Given the description of an element on the screen output the (x, y) to click on. 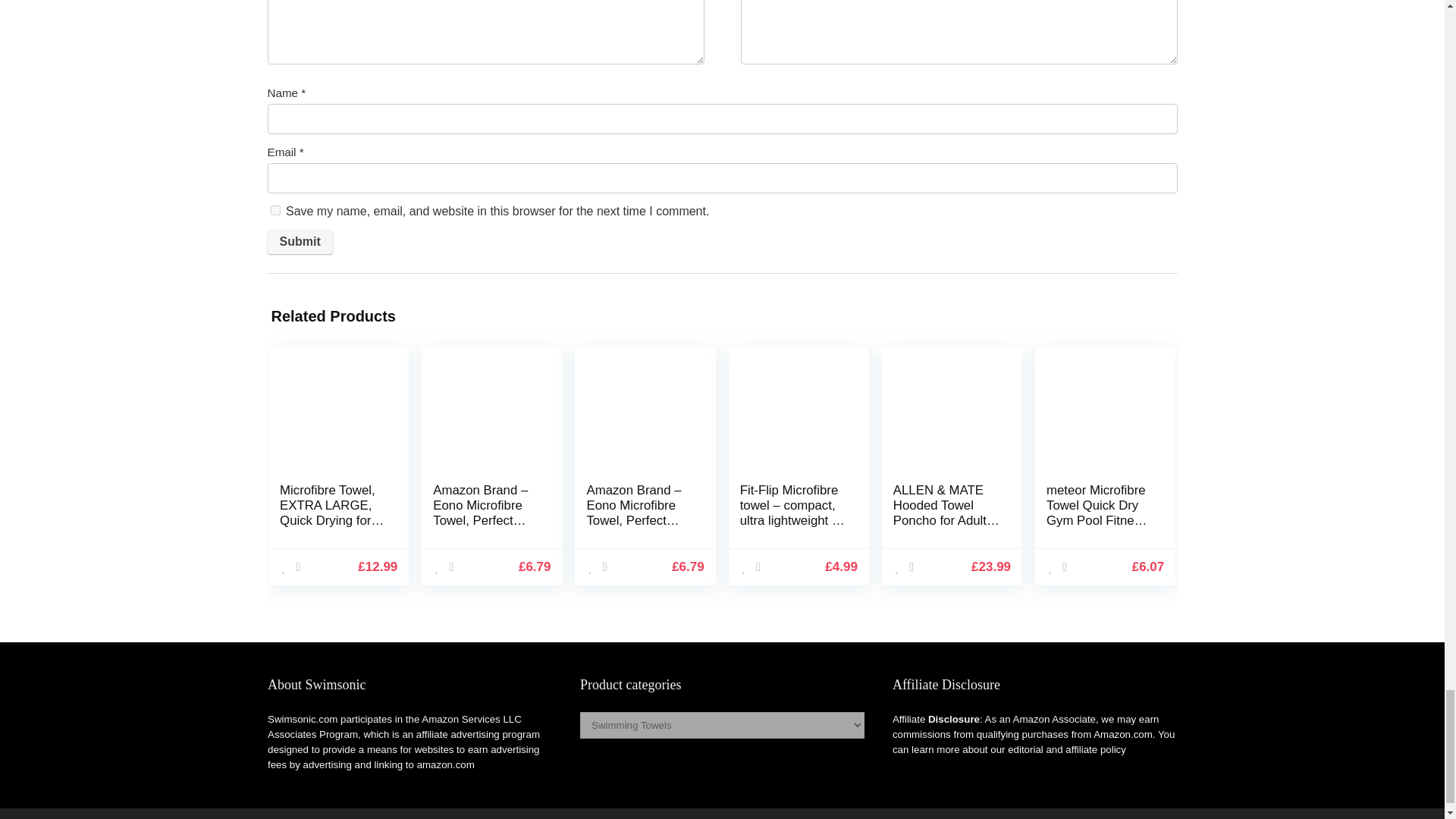
Submit (298, 241)
yes (274, 210)
Submit (298, 241)
